Given the description of an element on the screen output the (x, y) to click on. 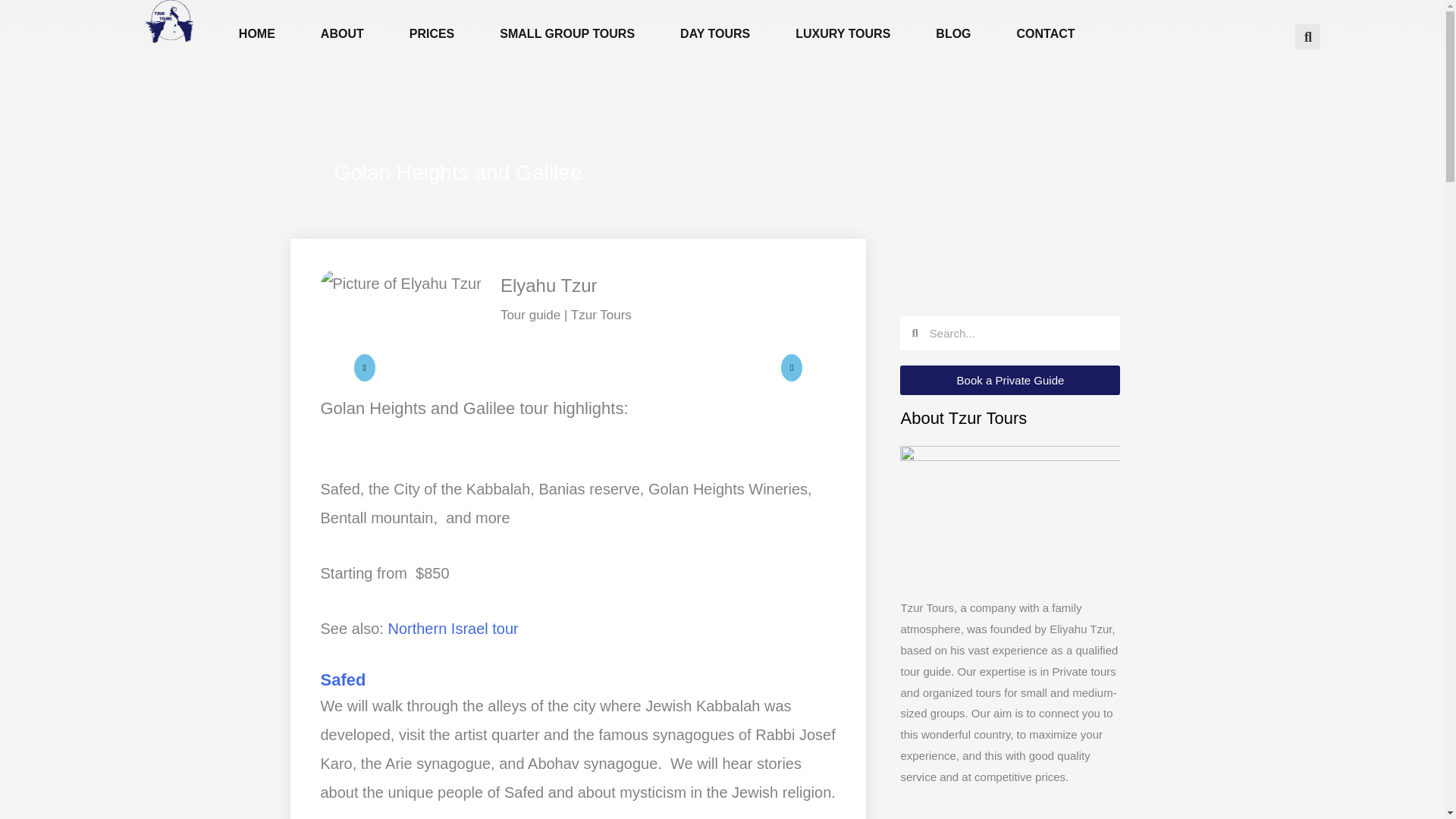
BLOG (952, 34)
PRICES (432, 34)
ABOUT (342, 34)
DAY TOURS (715, 34)
CONTACT (1045, 34)
SMALL GROUP TOURS (566, 34)
LUXURY TOURS (843, 34)
HOME (257, 34)
